Given the description of an element on the screen output the (x, y) to click on. 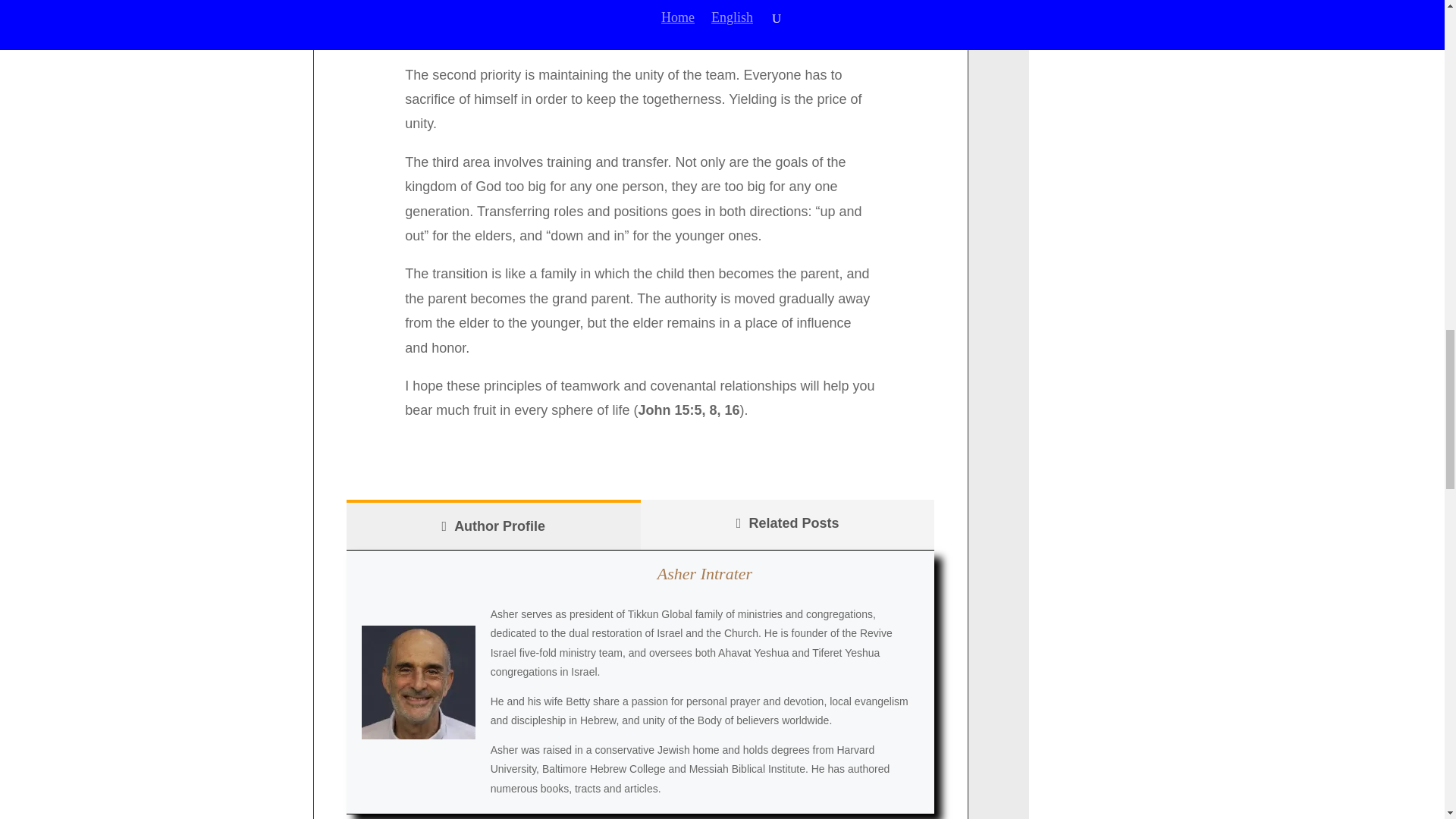
Asher Intrater (705, 573)
